Given the description of an element on the screen output the (x, y) to click on. 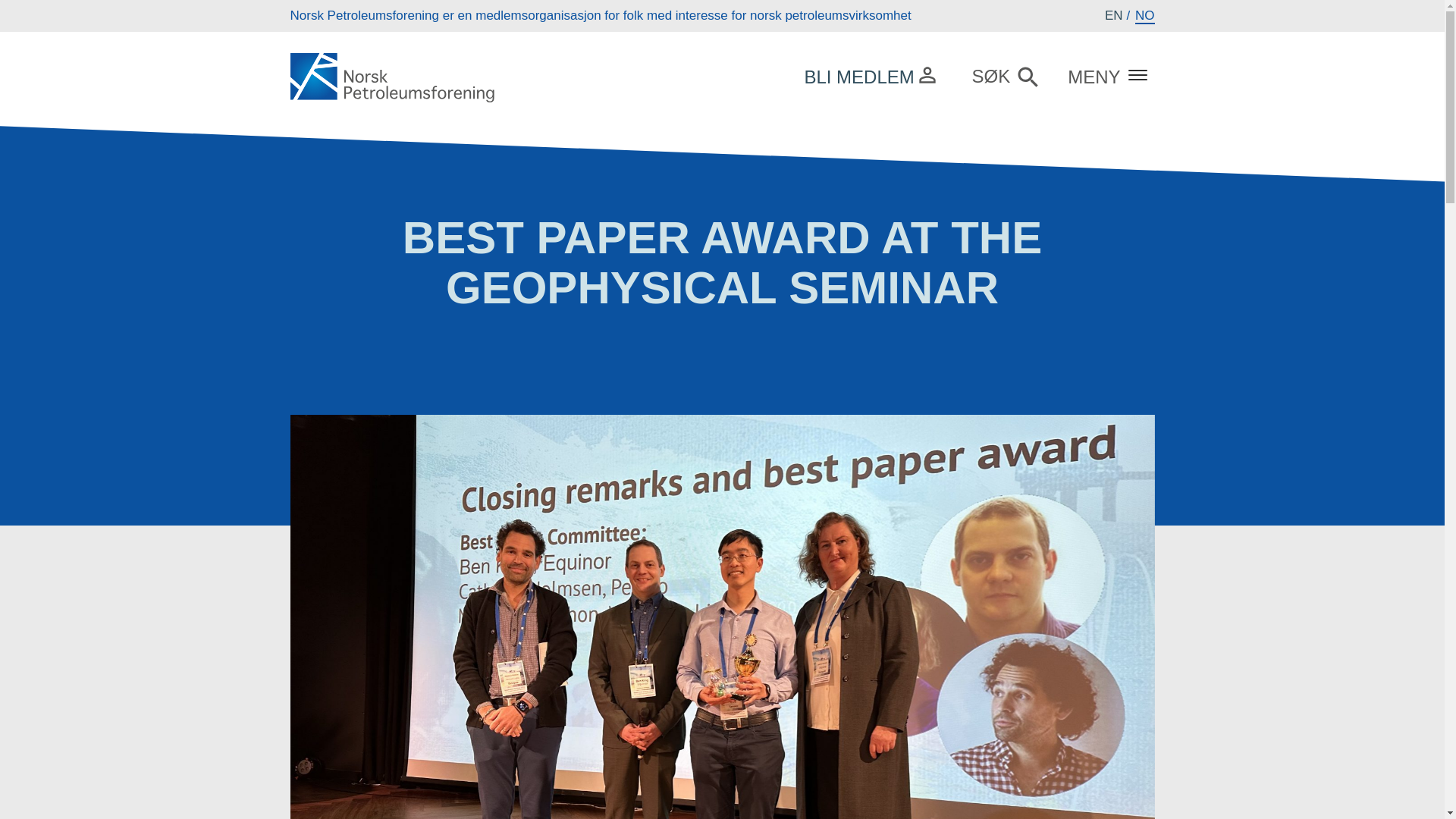
Created with Sketch. (927, 74)
MENY (1104, 75)
BLI MEDLEM Created with Sketch. (869, 75)
EN (1113, 16)
true (1050, 197)
Norsk Petroleumsforening (393, 78)
NO (1144, 16)
